Given the description of an element on the screen output the (x, y) to click on. 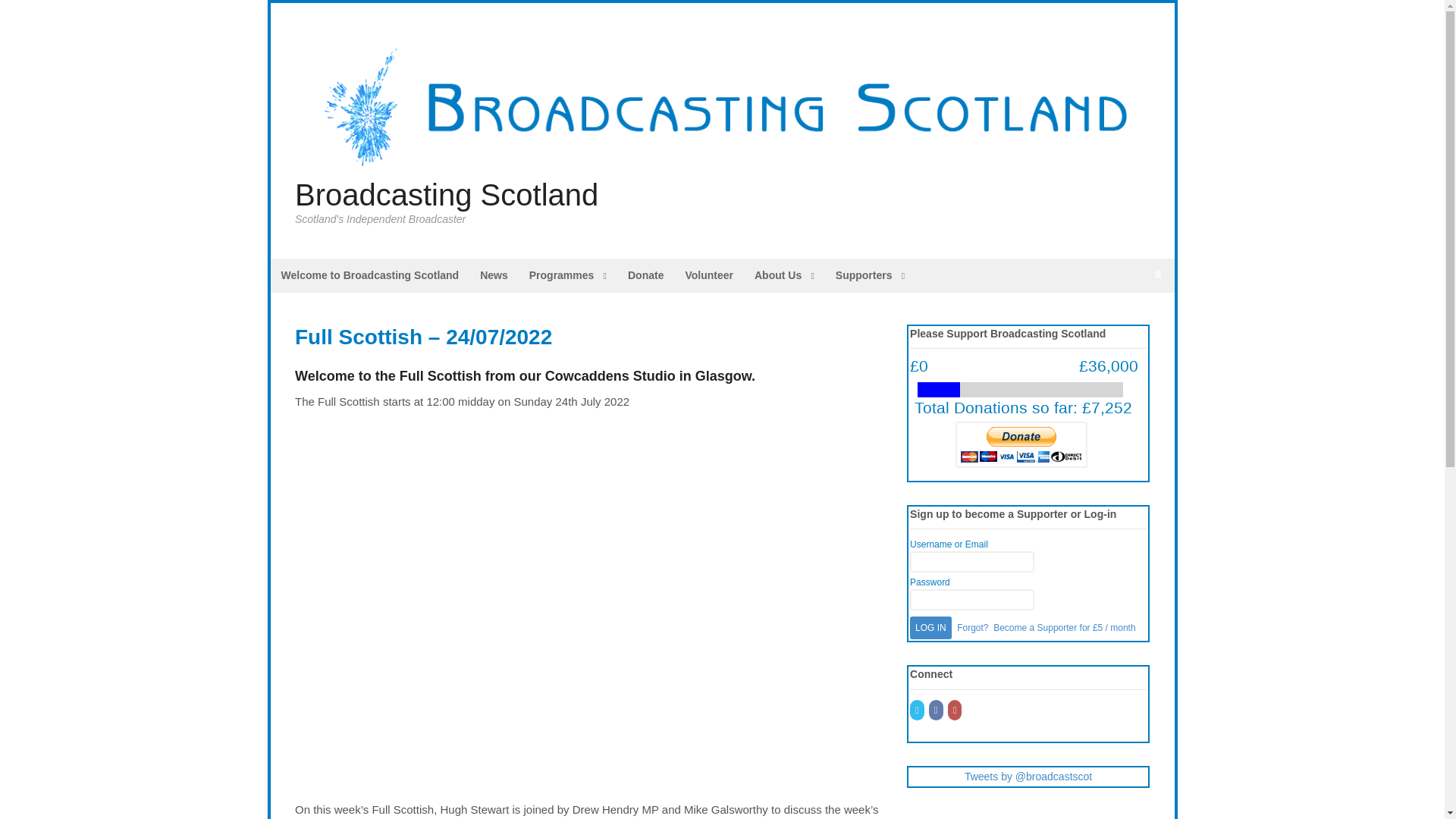
log in (931, 627)
Scotland's Independent Broadcaster (722, 171)
Twitter (918, 710)
PayPal - The safer, easier way to pay online! (1021, 444)
YouTube (955, 710)
Facebook (936, 710)
News (493, 275)
Broadcasting Scotland (446, 194)
Programmes (567, 275)
Welcome to Broadcasting Scotland (368, 275)
